Given the description of an element on the screen output the (x, y) to click on. 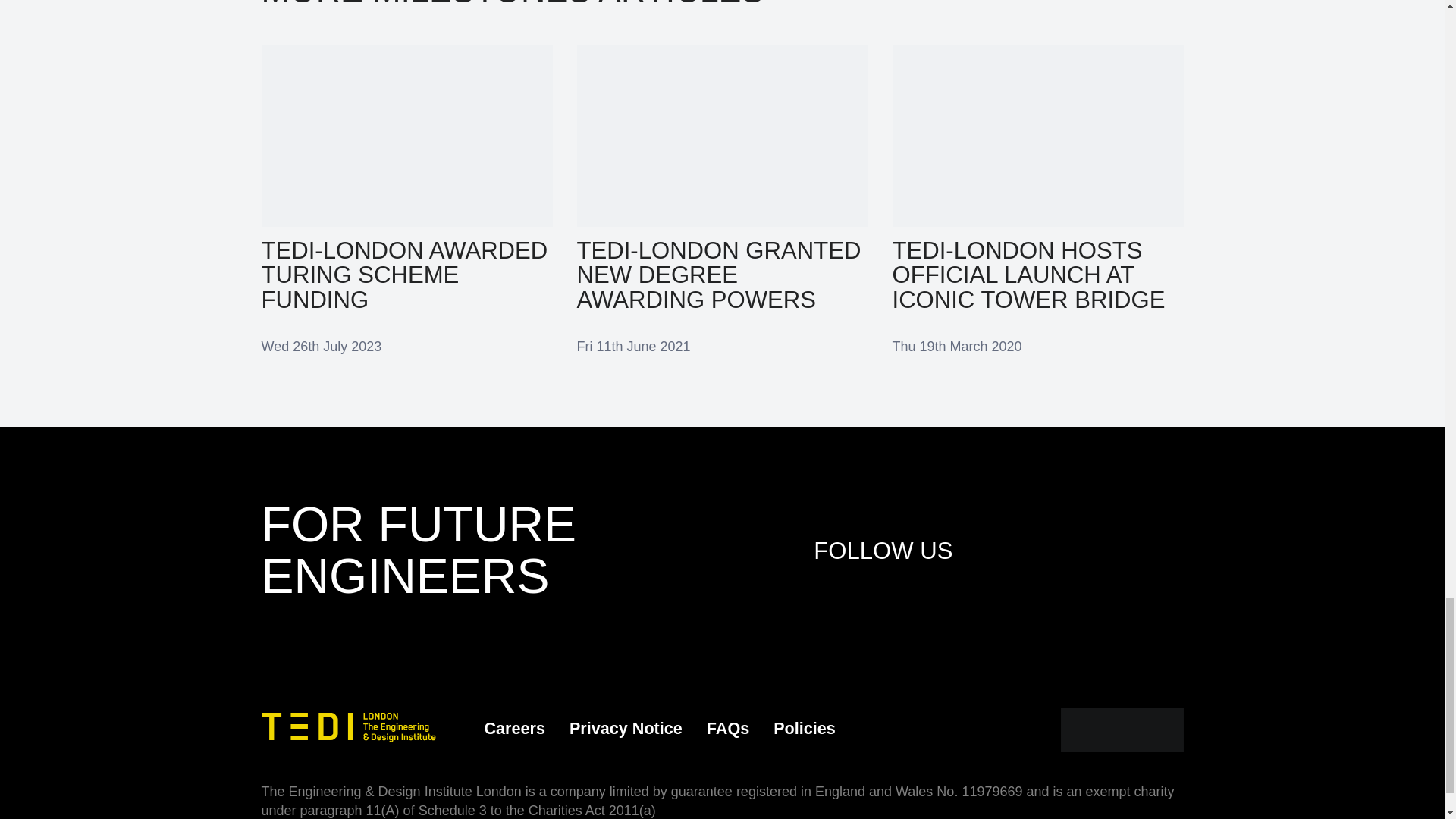
TEDI-London granted new degree awarding powers (721, 199)
MORE MILESTONES ARTICLES (511, 4)
TEDI-London awarded Turing Scheme funding (405, 199)
TEDI-London hosts official launch at iconic Tower Bridge (1036, 199)
